Given the description of an element on the screen output the (x, y) to click on. 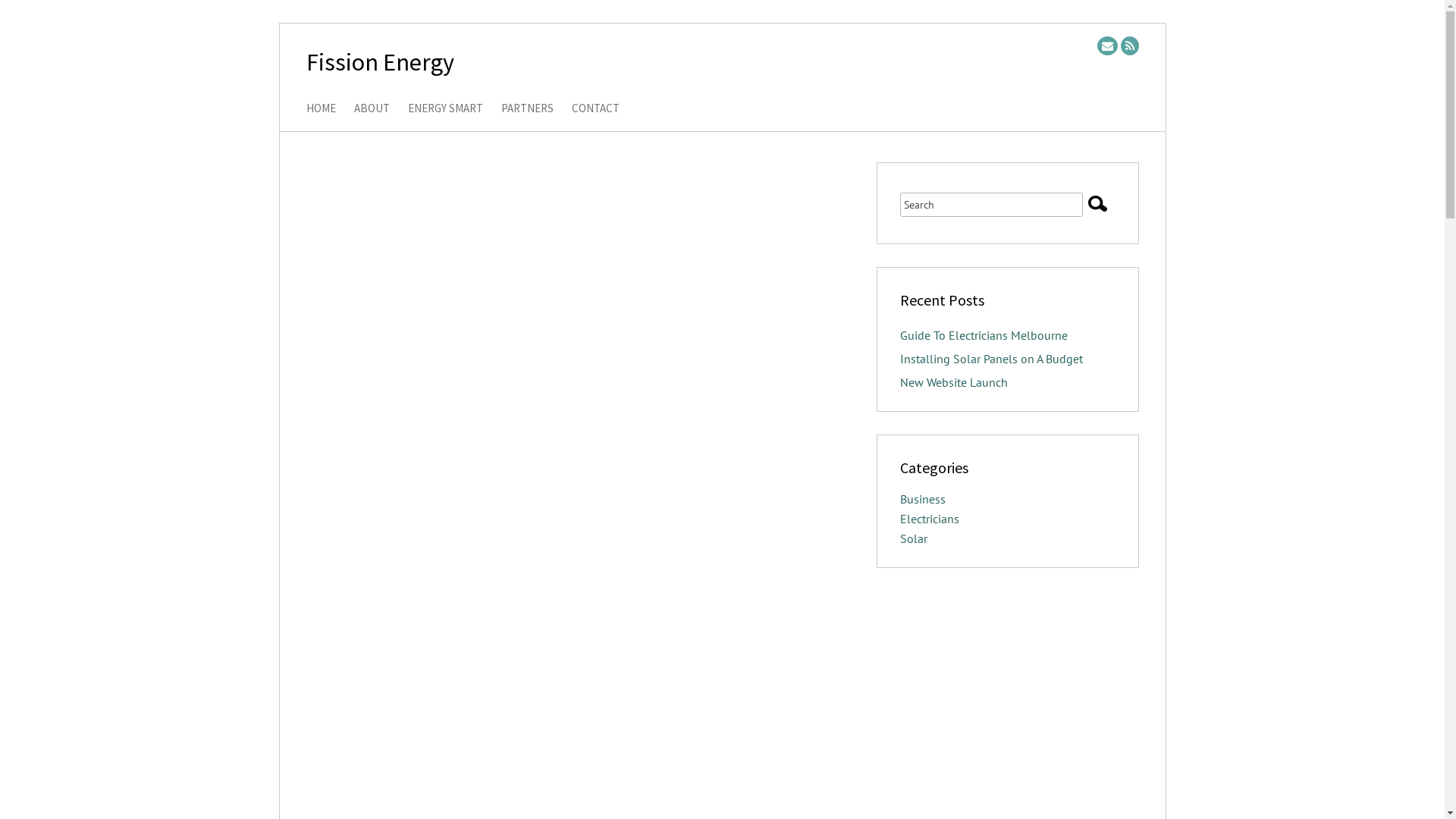
PARTNERS Element type: text (526, 109)
Guide To Electricians Melbourne Element type: text (982, 334)
Business Element type: text (921, 498)
Solar Element type: text (912, 538)
CONTACT Element type: text (595, 109)
New Website Launch Element type: text (953, 381)
Electricians Element type: text (928, 518)
Fission Energy Element type: text (380, 62)
HOME Element type: text (320, 109)
ENERGY SMART Element type: text (445, 109)
Installing Solar Panels on A Budget Element type: text (990, 358)
ABOUT Element type: text (371, 109)
